Given the description of an element on the screen output the (x, y) to click on. 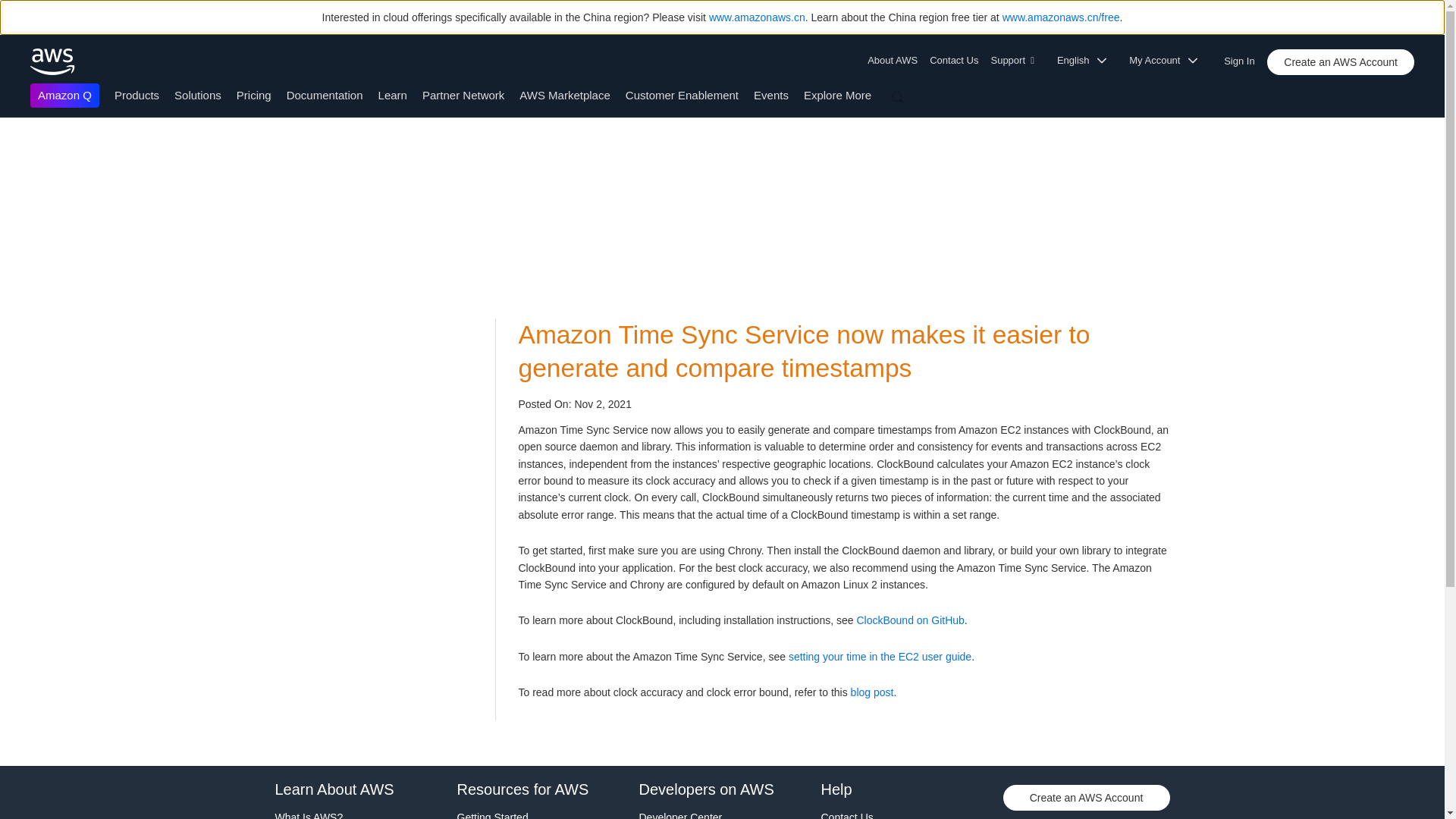
Sign In (1243, 58)
Amazon Q (64, 95)
Support  (1016, 60)
Pricing (252, 94)
Click here to return to Amazon Web Services homepage (52, 61)
Contact Us (953, 60)
English   (1086, 60)
Partner Network (462, 94)
Create an AWS Account (1339, 62)
Documentation (324, 94)
www.amazonaws.cn (757, 17)
Solutions (197, 94)
About AWS (895, 60)
Customer Enablement (682, 94)
Products (136, 94)
